Given the description of an element on the screen output the (x, y) to click on. 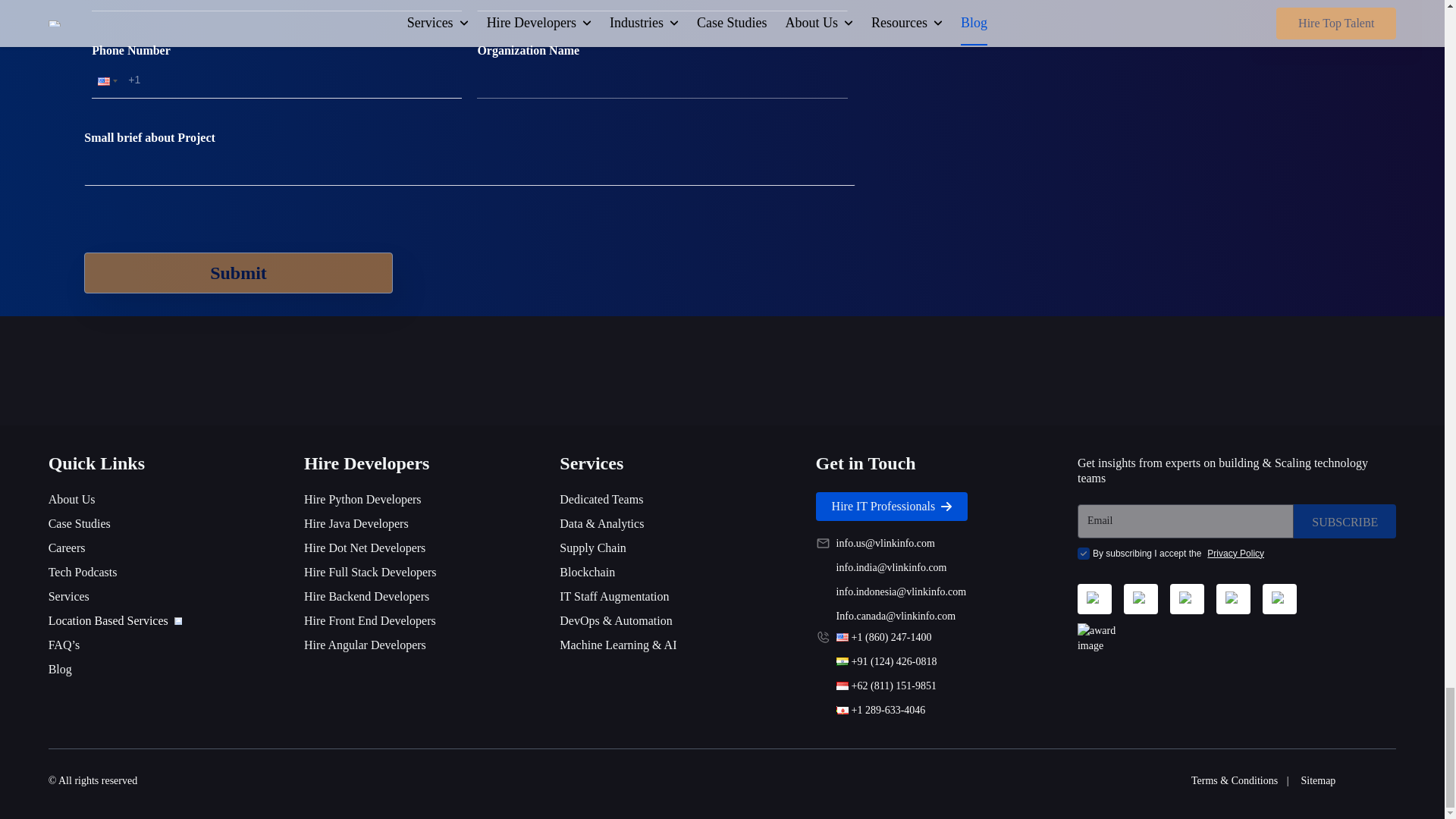
true (1083, 553)
